Given the description of an element on the screen output the (x, y) to click on. 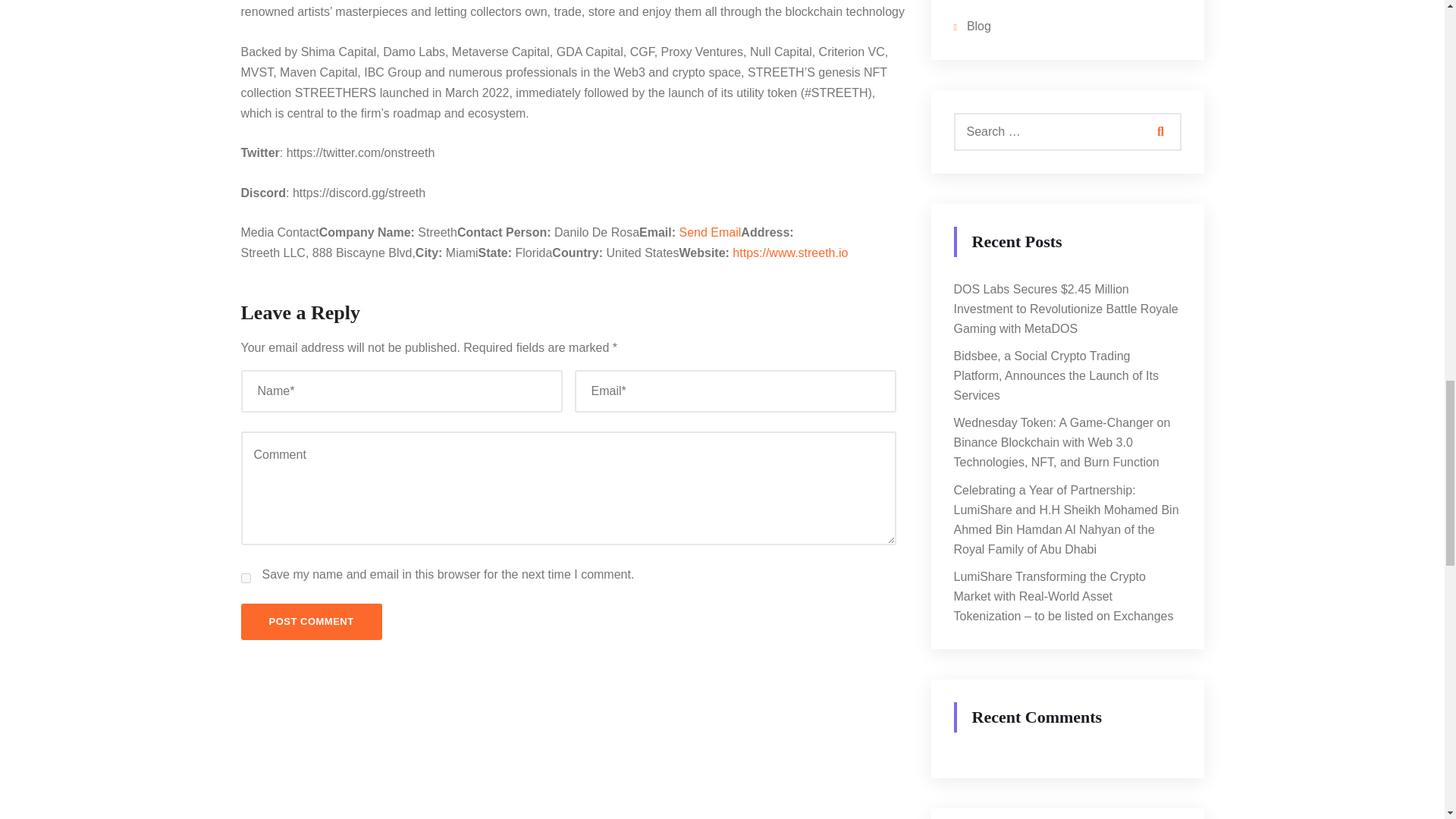
Post Comment (311, 621)
